Given the description of an element on the screen output the (x, y) to click on. 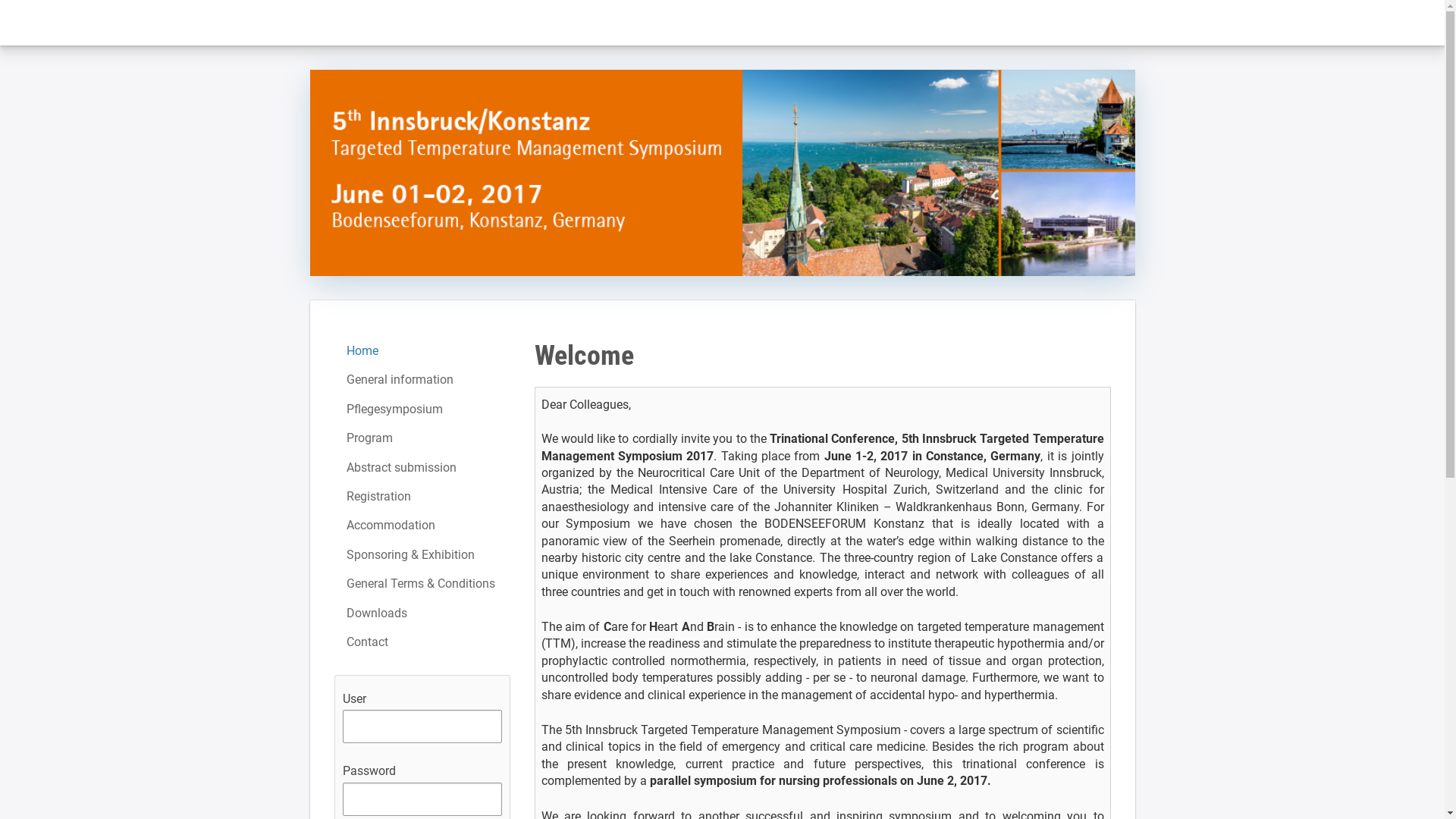
Contact Element type: text (421, 641)
Pflegesymposium Element type: text (421, 409)
Accommodation Element type: text (421, 525)
Program Element type: text (421, 437)
Home Element type: text (421, 350)
Registration Element type: text (421, 496)
Sponsoring & Exhibition Element type: text (421, 554)
General information Element type: text (421, 379)
General Terms & Conditions Element type: text (421, 583)
Abstract submission Element type: text (421, 467)
Downloads Element type: text (421, 613)
